Given the description of an element on the screen output the (x, y) to click on. 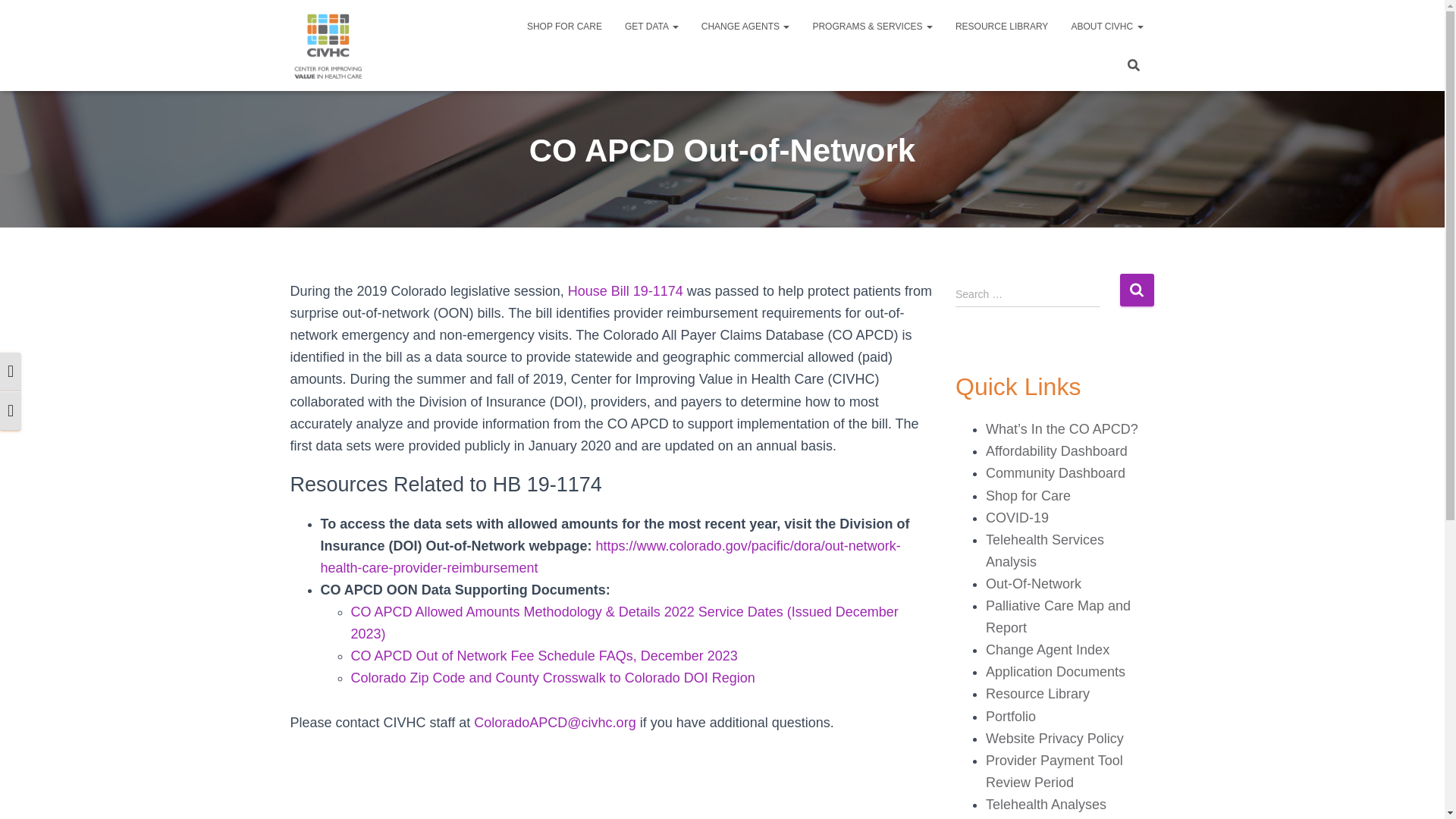
Search (1136, 289)
SHOP FOR CARE (563, 26)
GET DATA (651, 26)
Search (1136, 289)
